Given the description of an element on the screen output the (x, y) to click on. 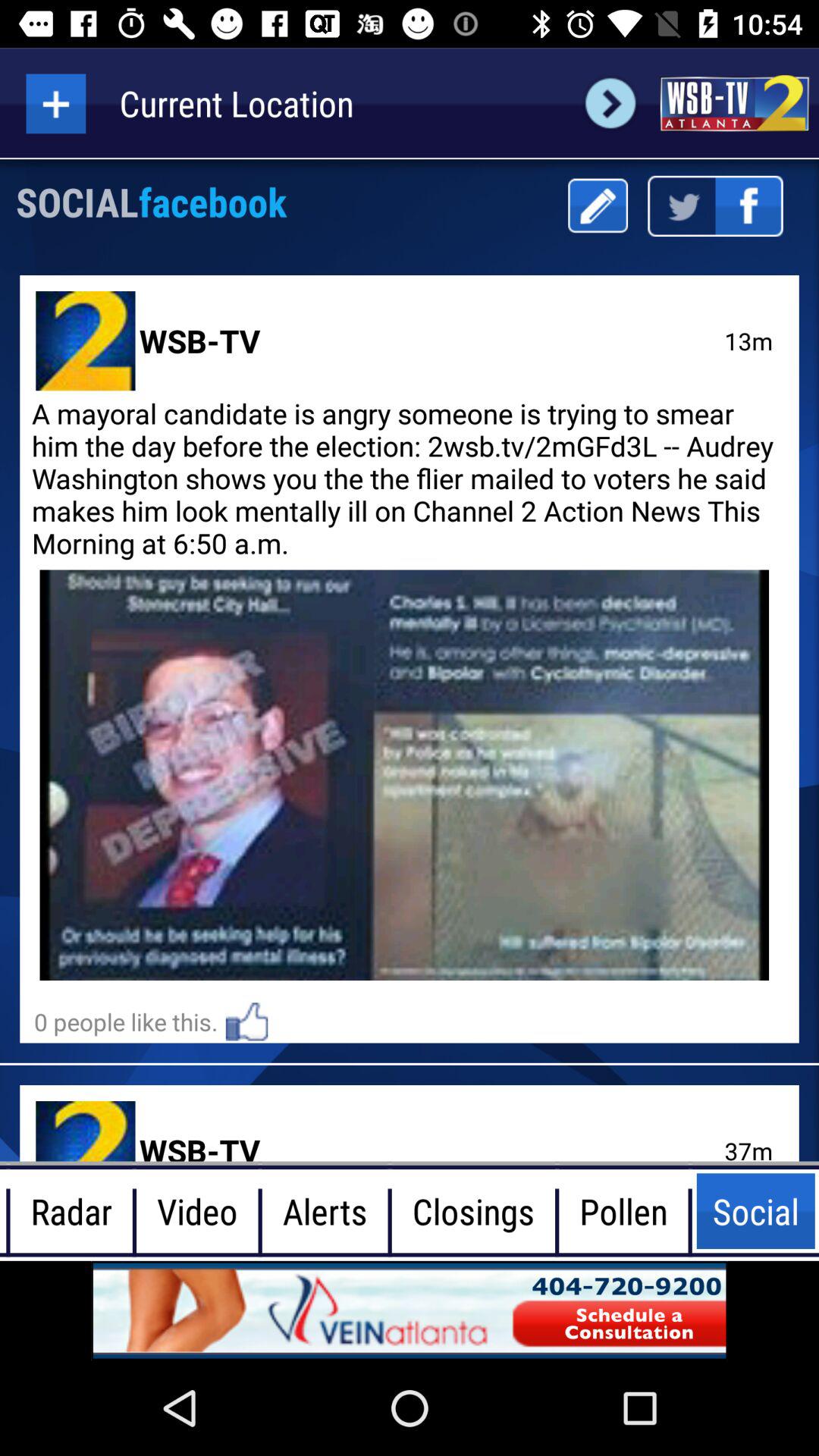
go to next (610, 103)
